Given the description of an element on the screen output the (x, y) to click on. 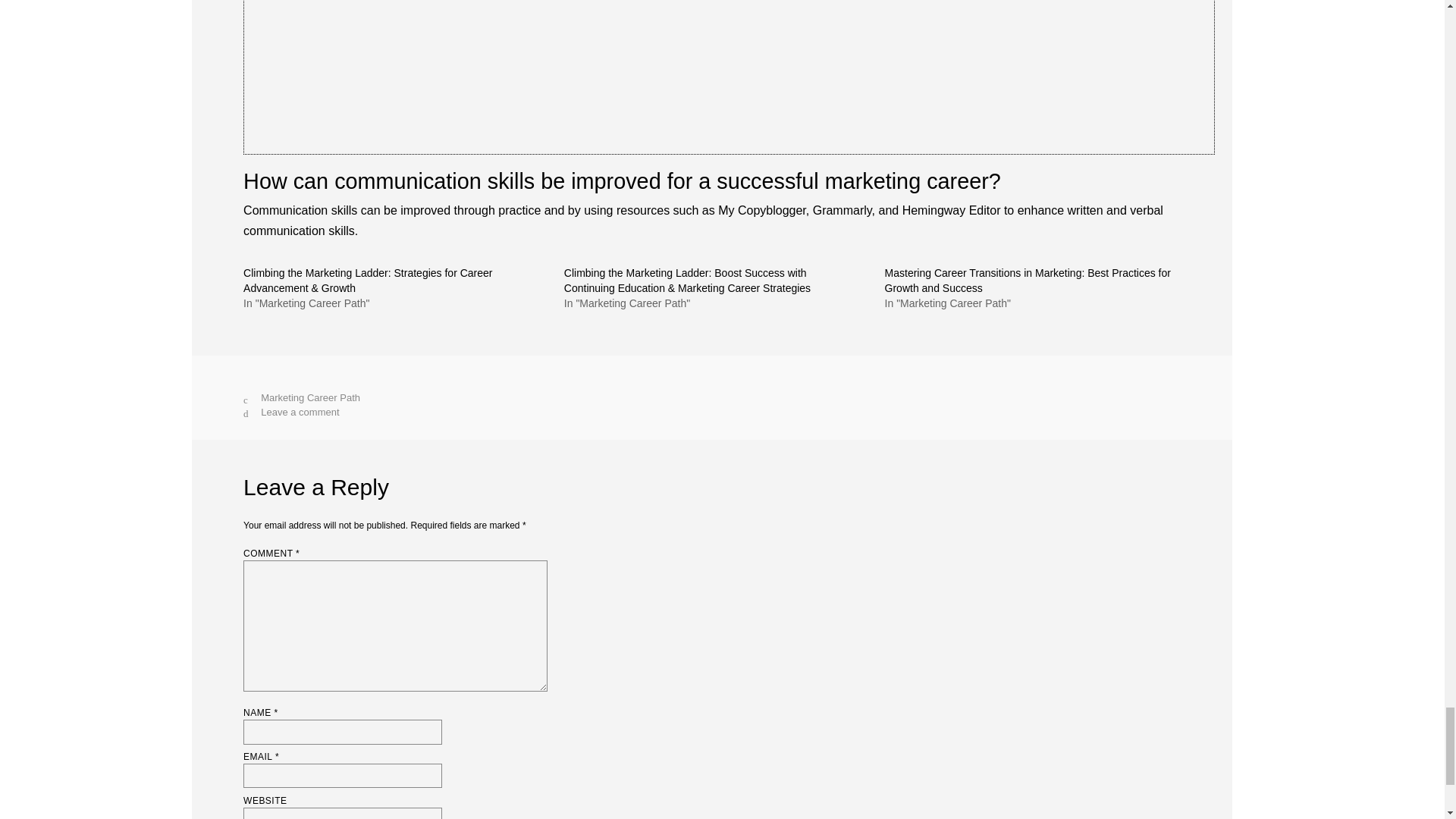
Marketing Career Path (309, 397)
Leave a comment (299, 411)
